Given the description of an element on the screen output the (x, y) to click on. 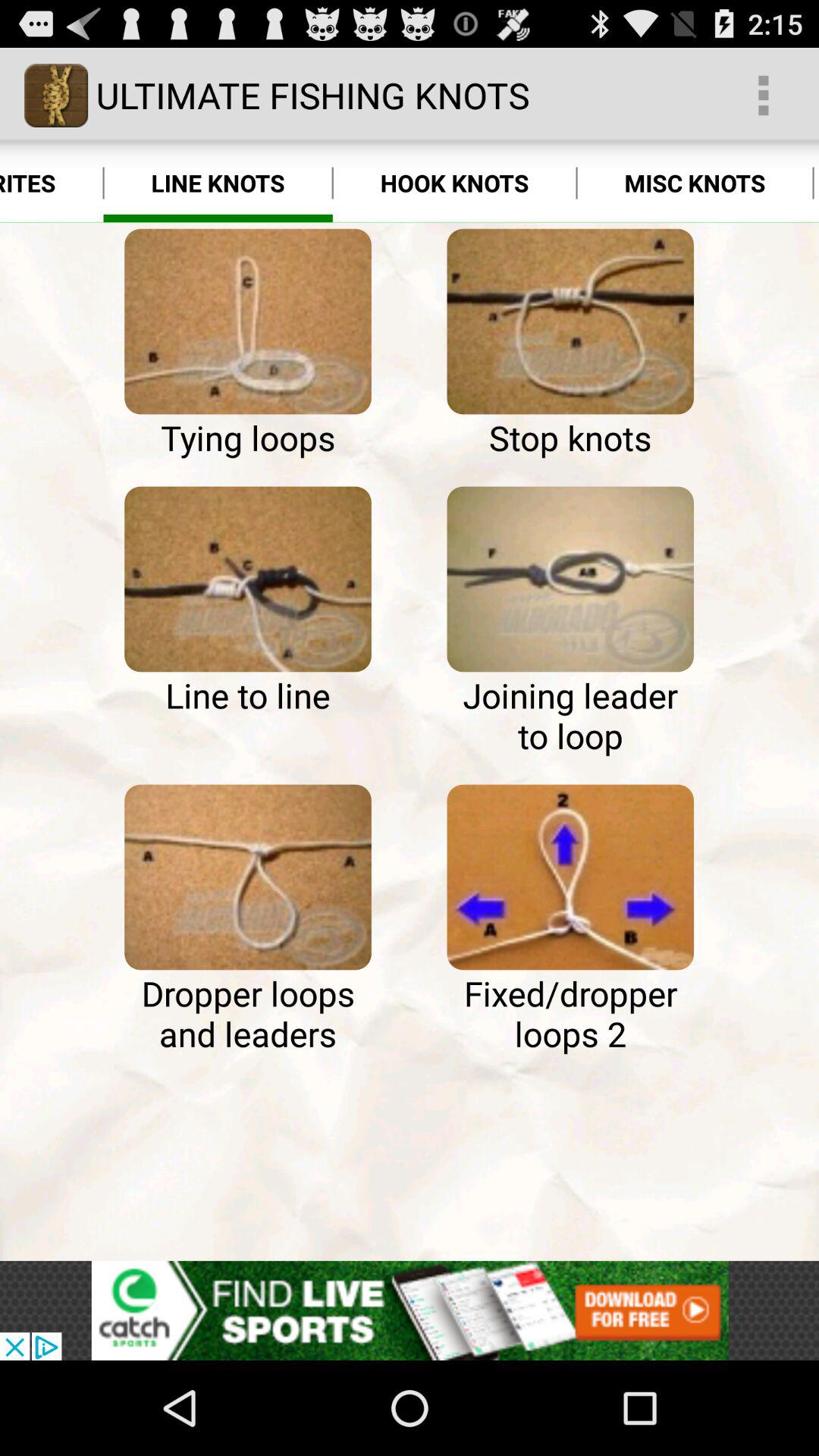
image page (247, 321)
